Given the description of an element on the screen output the (x, y) to click on. 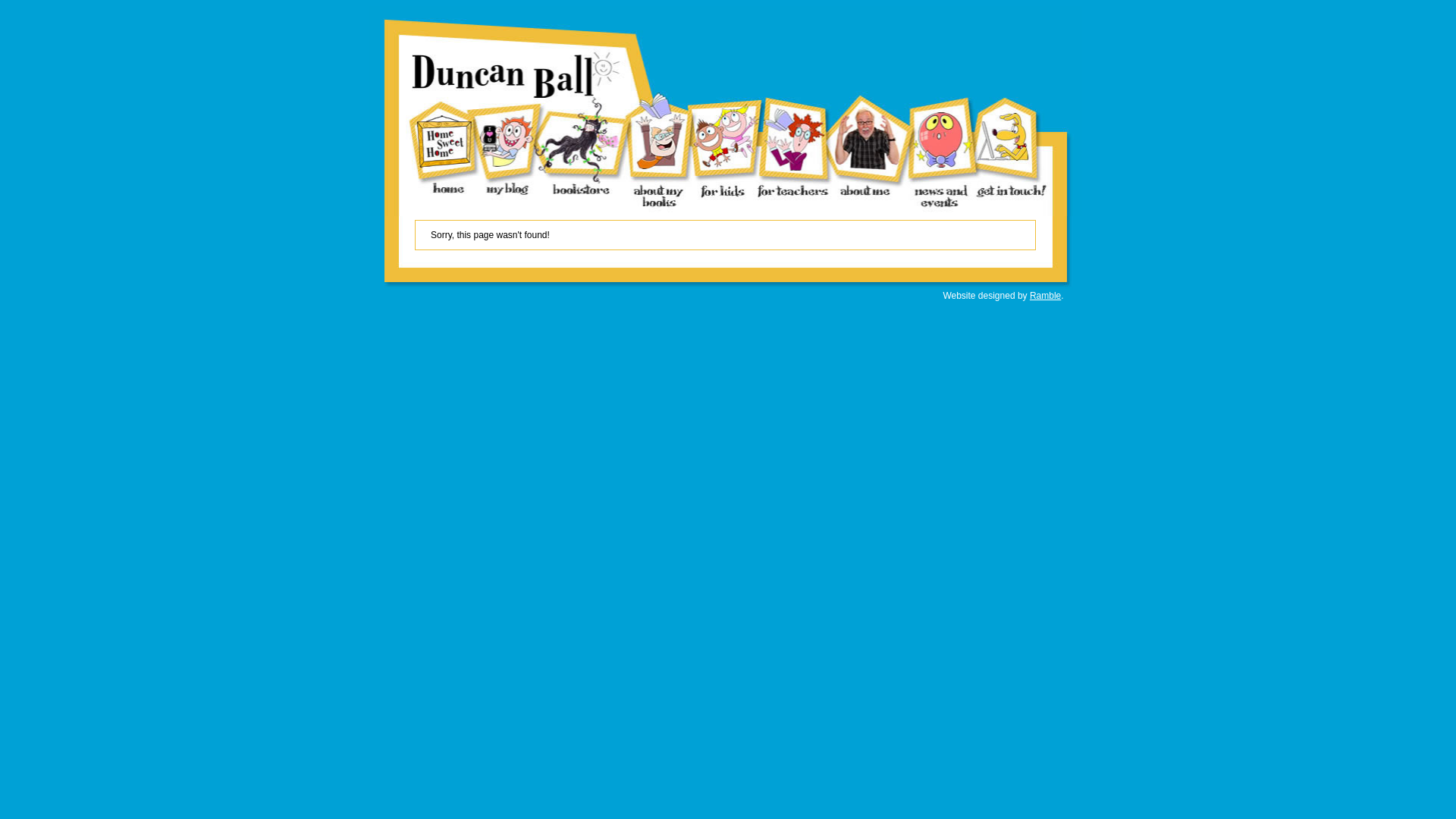
Ramble Element type: text (1044, 295)
